Given the description of an element on the screen output the (x, y) to click on. 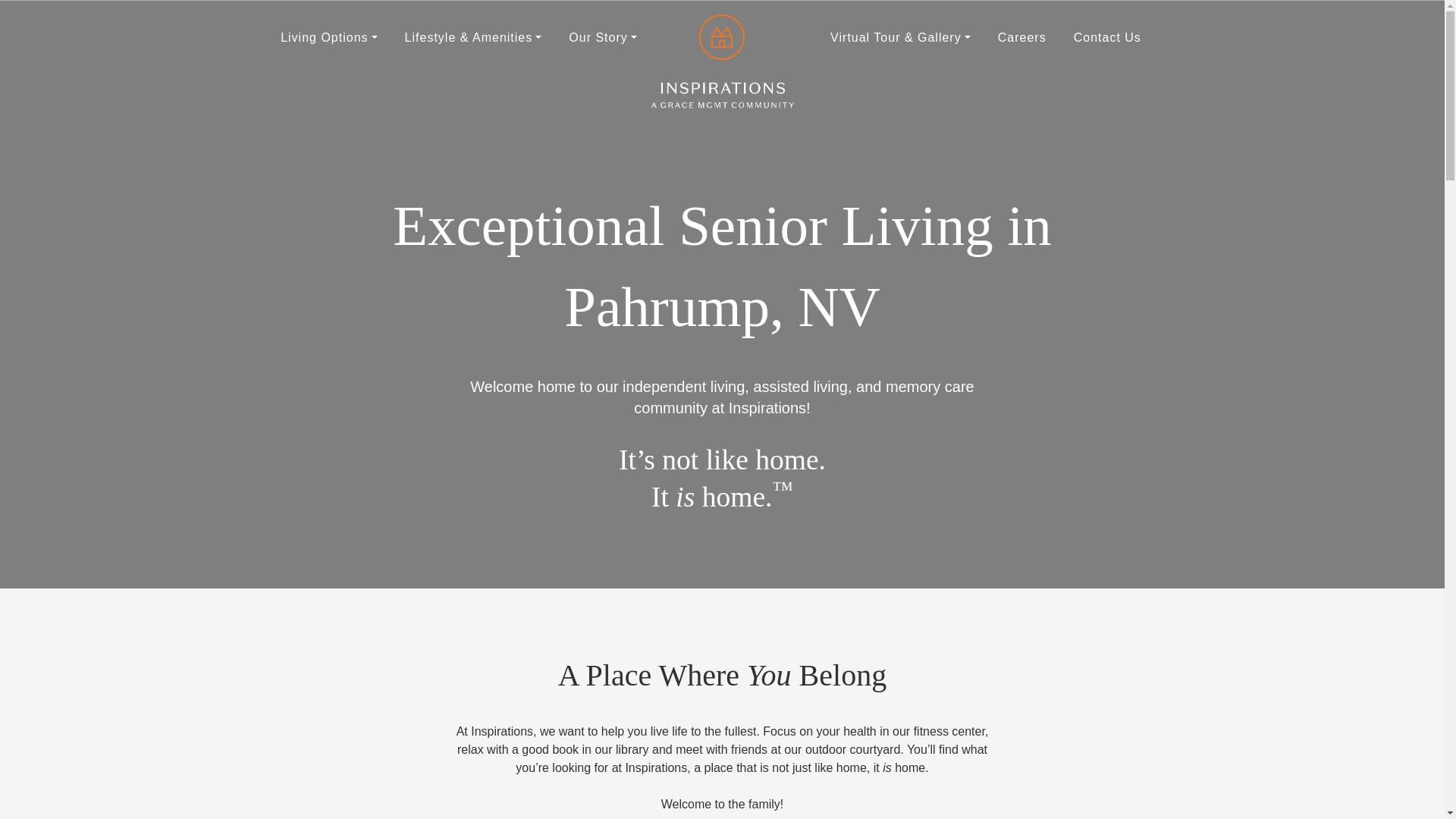
Careers (1021, 37)
Living Options (328, 37)
Our Story (602, 37)
Living Options (328, 37)
Contact Us (1106, 37)
Our Story (602, 37)
